Given the description of an element on the screen output the (x, y) to click on. 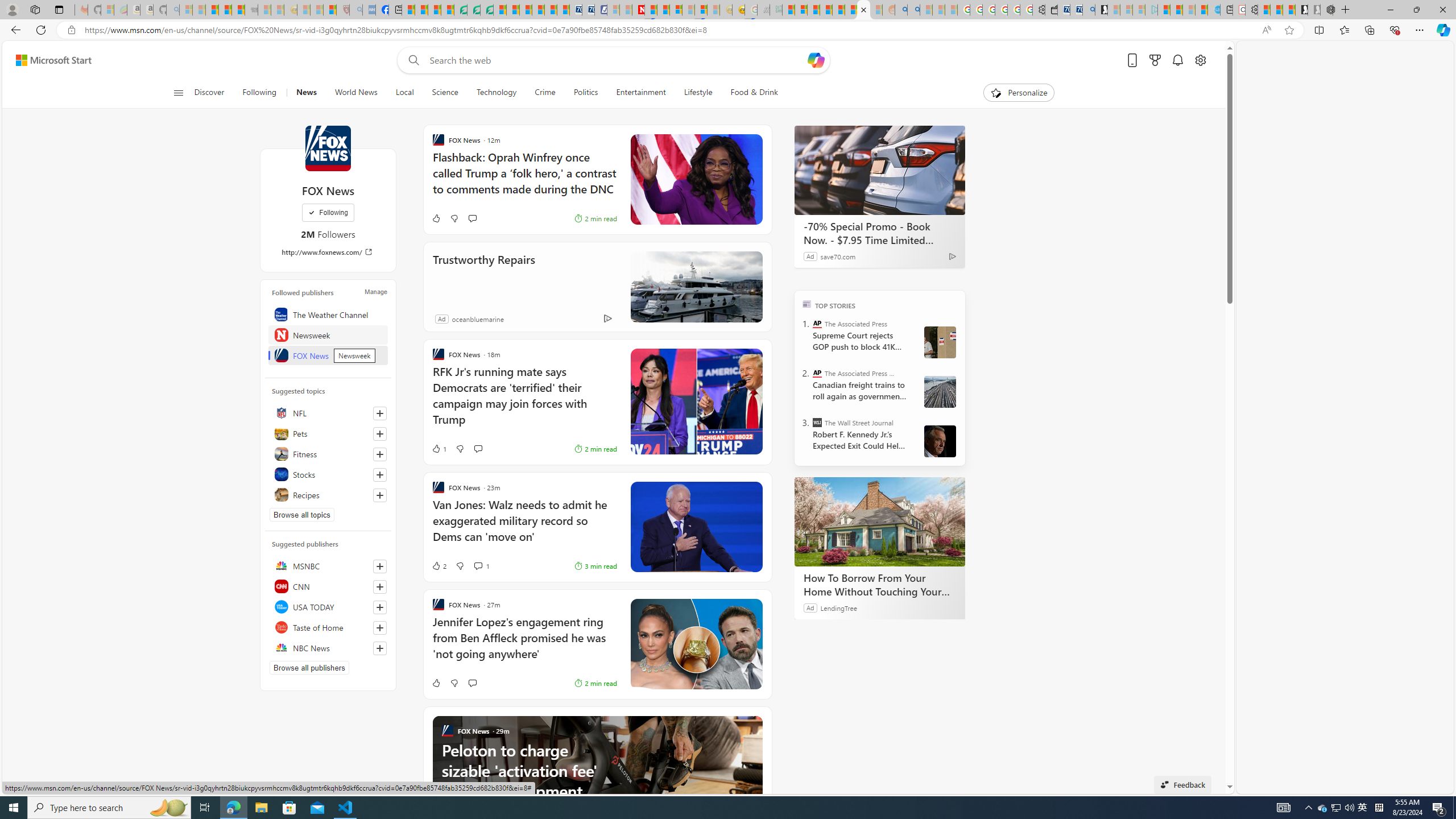
Fitness (327, 453)
The Associated Press - Business News (816, 372)
LendingTree - Compare Lenders (460, 9)
Taste of Home (327, 627)
MSNBC (327, 565)
NBC News (327, 647)
